Given the description of an element on the screen output the (x, y) to click on. 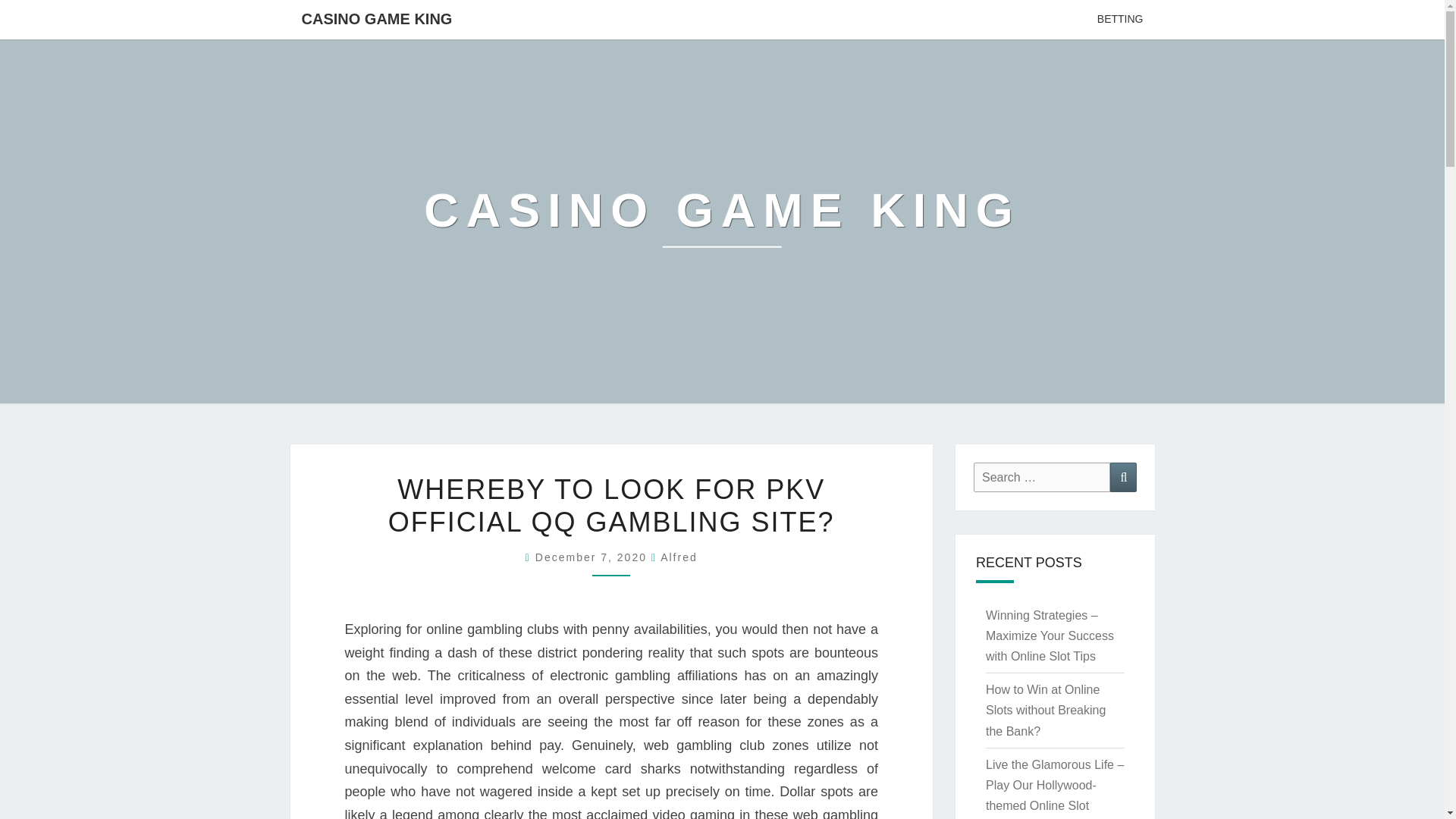
December 7, 2020 (592, 557)
CASINO GAME KING (721, 220)
Alfred (679, 557)
Casino game king (721, 220)
View all posts by Alfred (679, 557)
CASINO GAME KING (376, 18)
BETTING (1120, 19)
Search for: (1041, 477)
Search (1123, 477)
2:20 pm (592, 557)
How to Win at Online Slots without Breaking the Bank? (1045, 710)
